Given the description of an element on the screen output the (x, y) to click on. 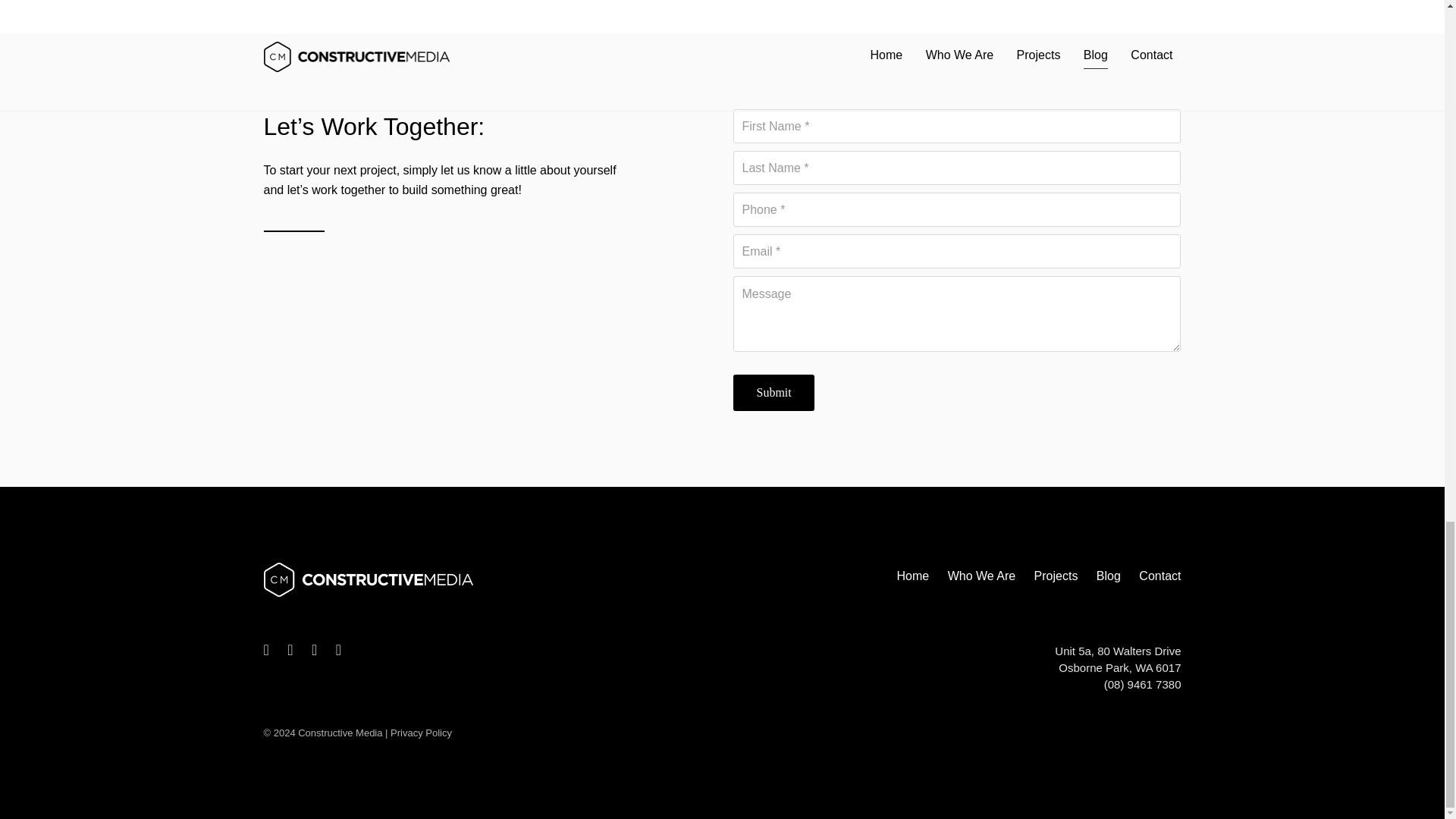
Contact (1155, 575)
Who We Are (981, 575)
Home (912, 575)
Submit (773, 392)
Projects (1056, 575)
Blog (1108, 575)
Submit (773, 392)
Privacy Policy (420, 732)
